Given the description of an element on the screen output the (x, y) to click on. 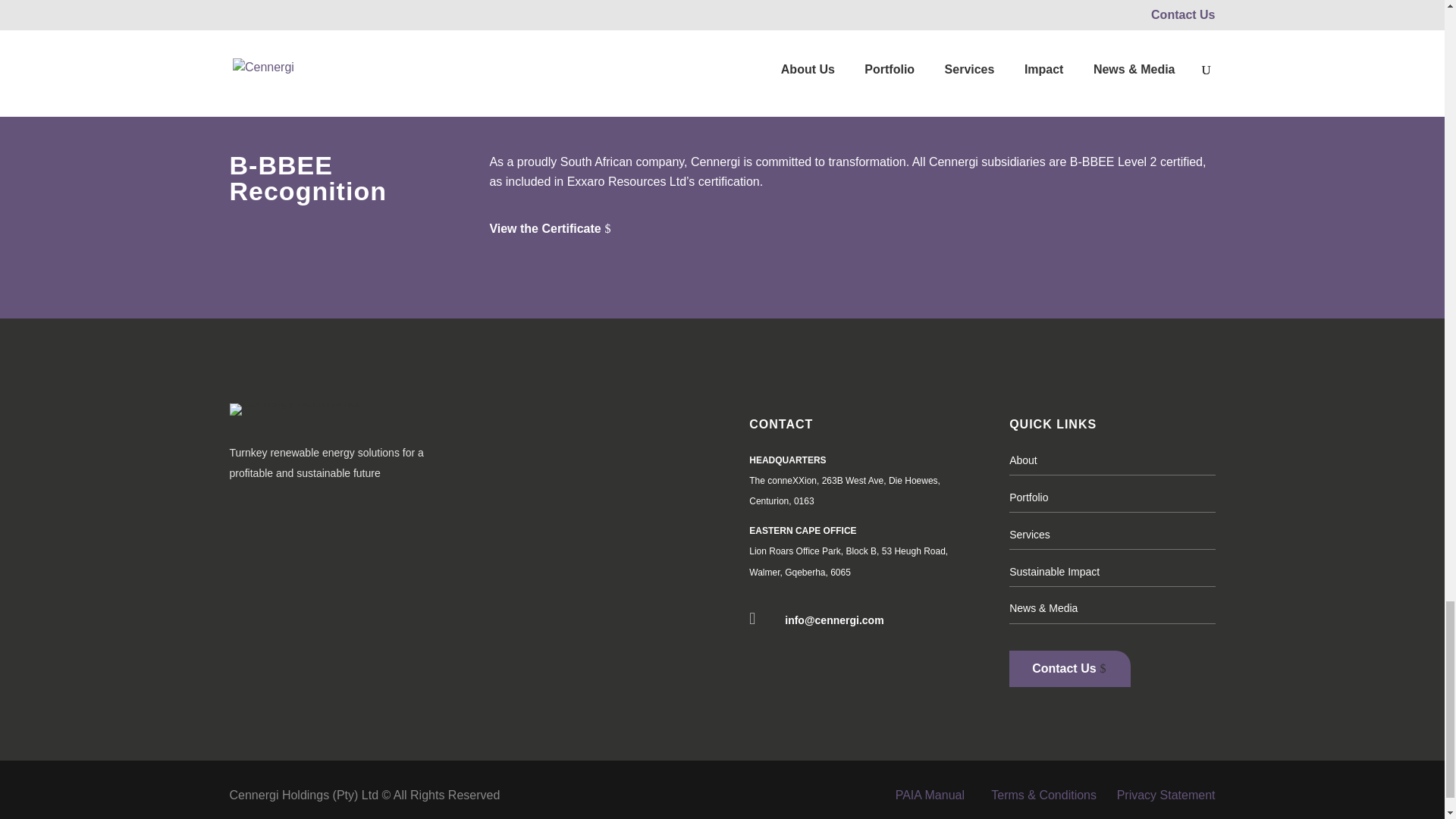
Services (1029, 534)
PAIA Manual (929, 794)
Privacy Statement (1165, 794)
View the Certificate (556, 230)
Portfolio (1028, 497)
footer-logo (295, 409)
Contact Us (1069, 668)
Sustainable Impact (1054, 571)
About (1022, 460)
